Given the description of an element on the screen output the (x, y) to click on. 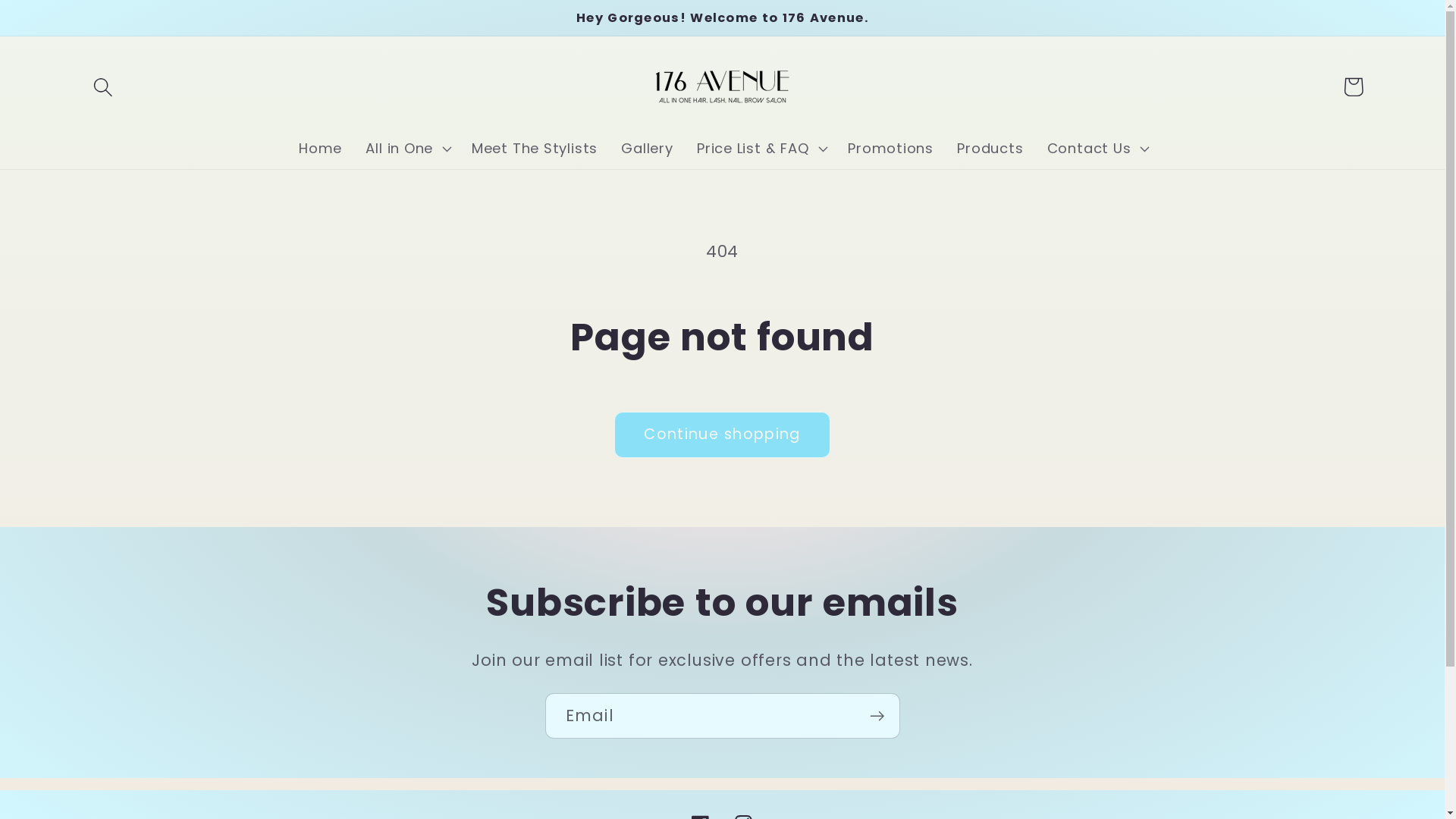
Gallery Element type: text (647, 148)
Cart Element type: text (1352, 86)
Continue shopping Element type: text (721, 434)
Home Element type: text (319, 148)
Products Element type: text (990, 148)
Promotions Element type: text (890, 148)
Meet The Stylists Element type: text (533, 148)
